Given the description of an element on the screen output the (x, y) to click on. 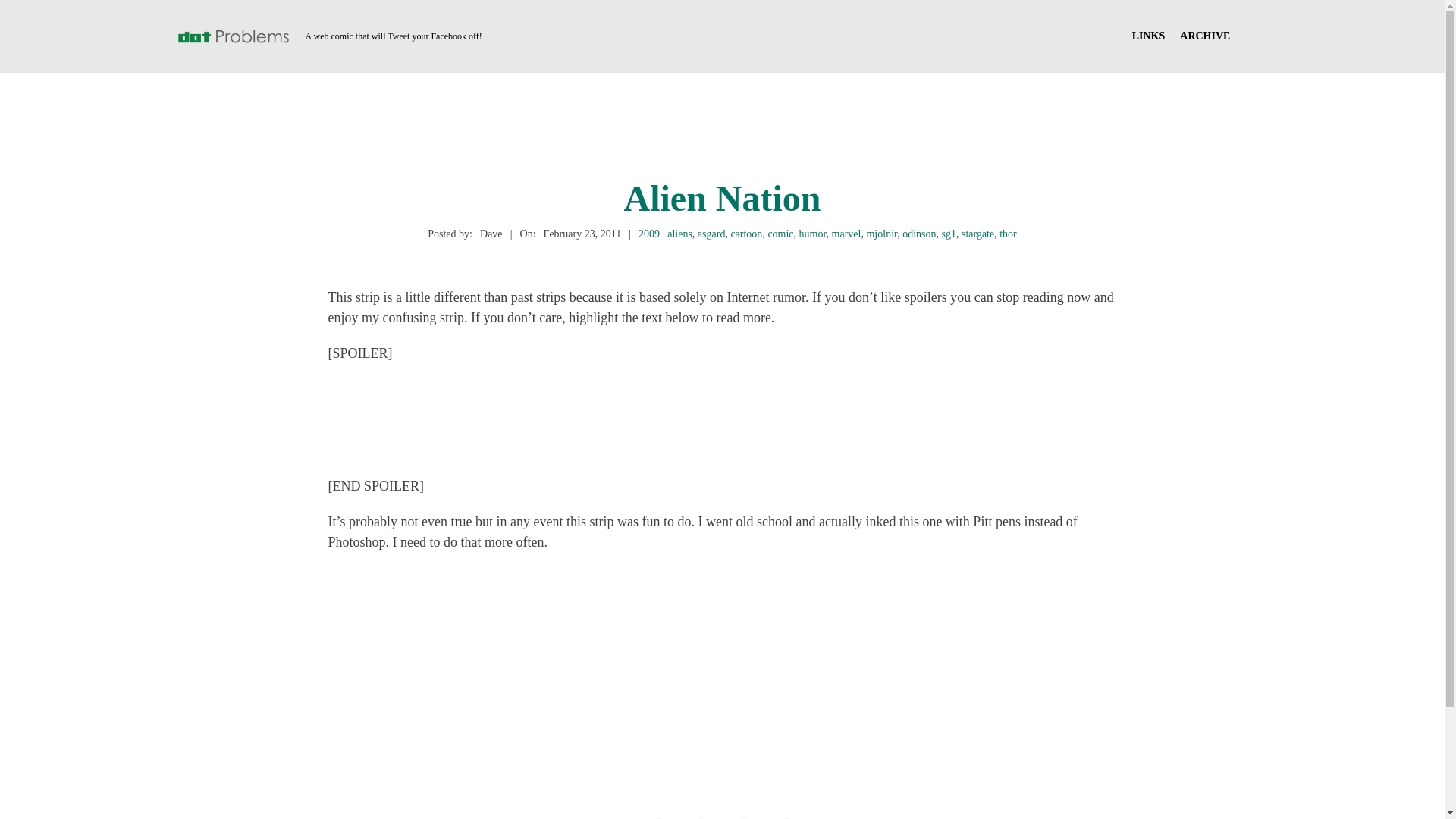
comic (780, 233)
LINKS (1149, 36)
sg1 (947, 233)
asgard (711, 233)
humor (813, 233)
ARCHIVE (1204, 36)
cartoon (745, 233)
marvel (846, 233)
thor (1007, 233)
mjolnir (881, 233)
stargate (977, 233)
2009 (649, 233)
